Given the description of an element on the screen output the (x, y) to click on. 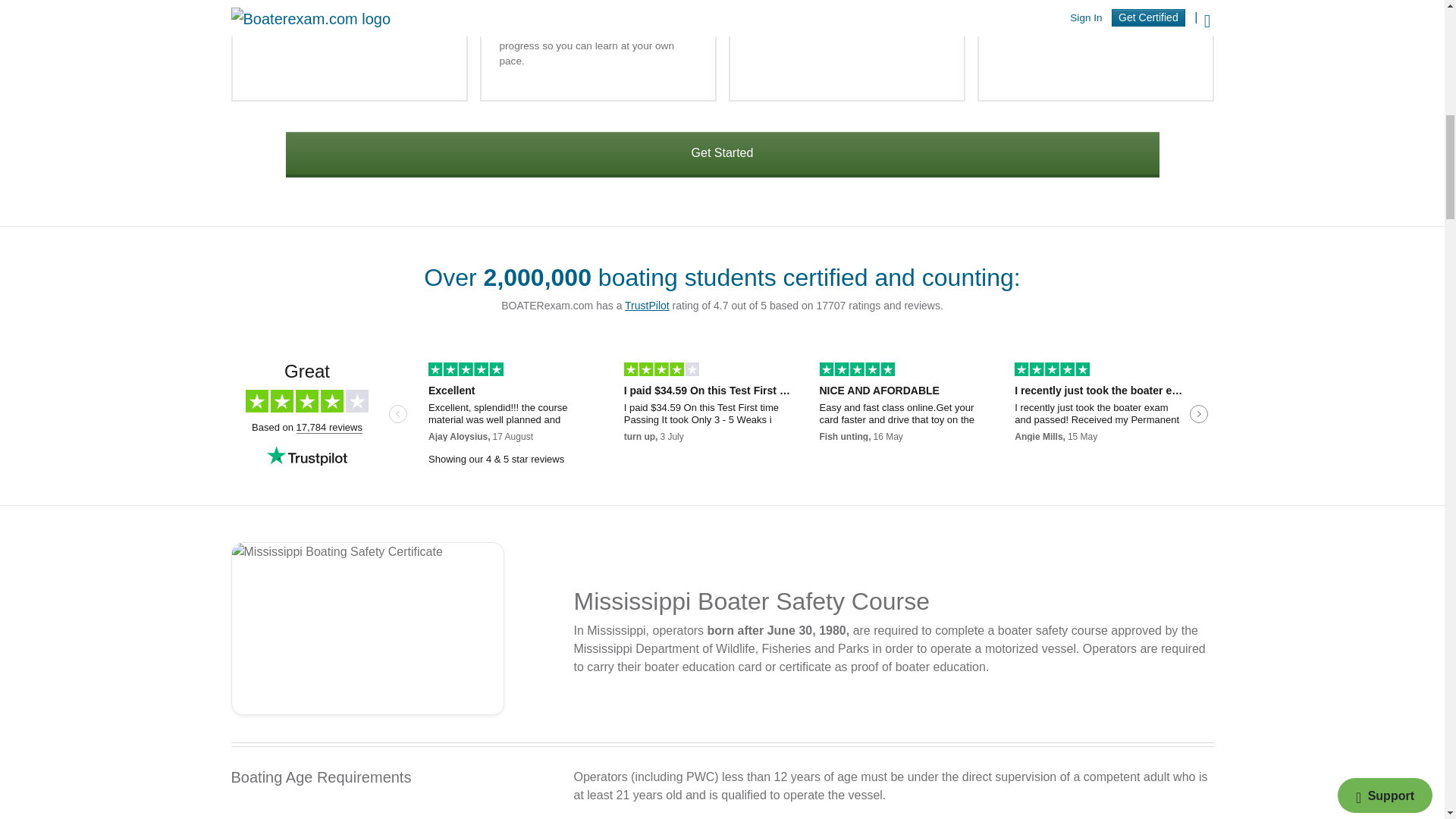
Get Started (721, 154)
Customer reviews powered by Trustpilot (721, 415)
TrustPilot (646, 305)
